Given the description of an element on the screen output the (x, y) to click on. 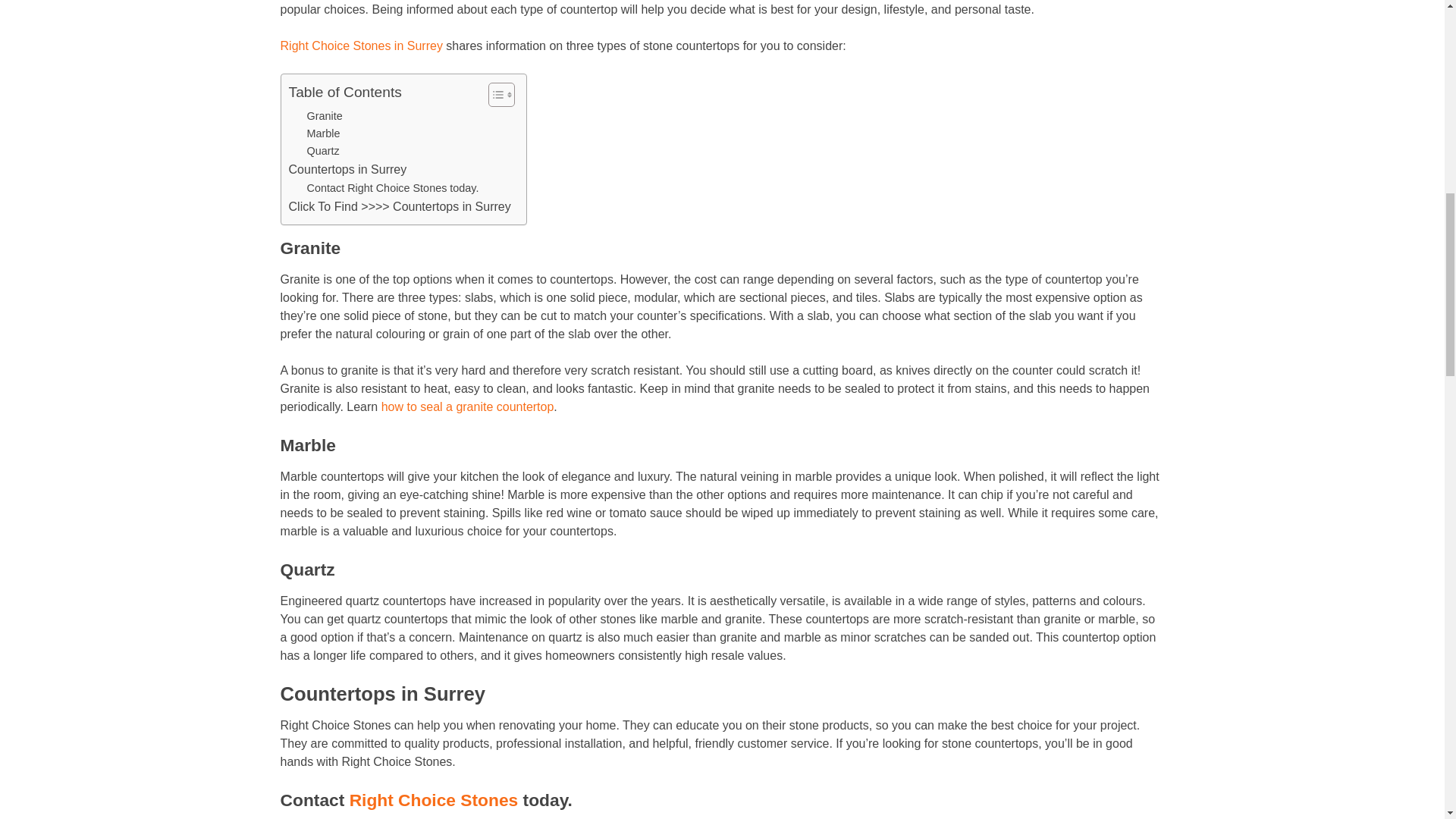
Quartz (323, 150)
Granite (324, 116)
Marble (323, 133)
Contact Right Choice Stones today. (393, 188)
Right Choice Stones in Surrey (361, 45)
Quartz (323, 150)
how to seal a granite countertop (467, 406)
Marble (323, 133)
Right Choice Stones (433, 799)
